Given the description of an element on the screen output the (x, y) to click on. 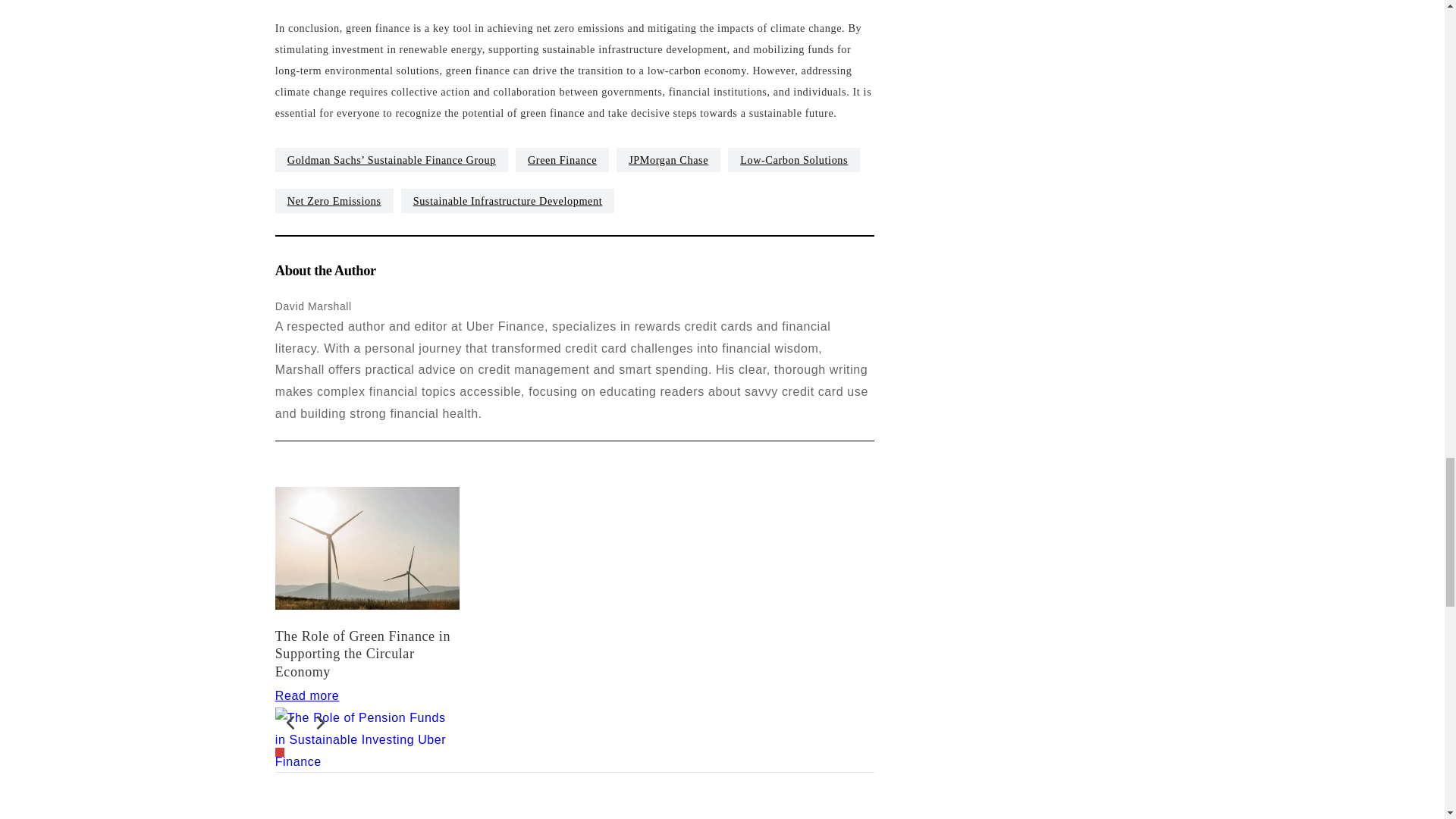
JPMorgan Chase (667, 159)
Sustainable Infrastructure Development (507, 200)
Low-Carbon Solutions (794, 159)
Net Zero Emissions (334, 200)
Green Finance (561, 159)
